Given the description of an element on the screen output the (x, y) to click on. 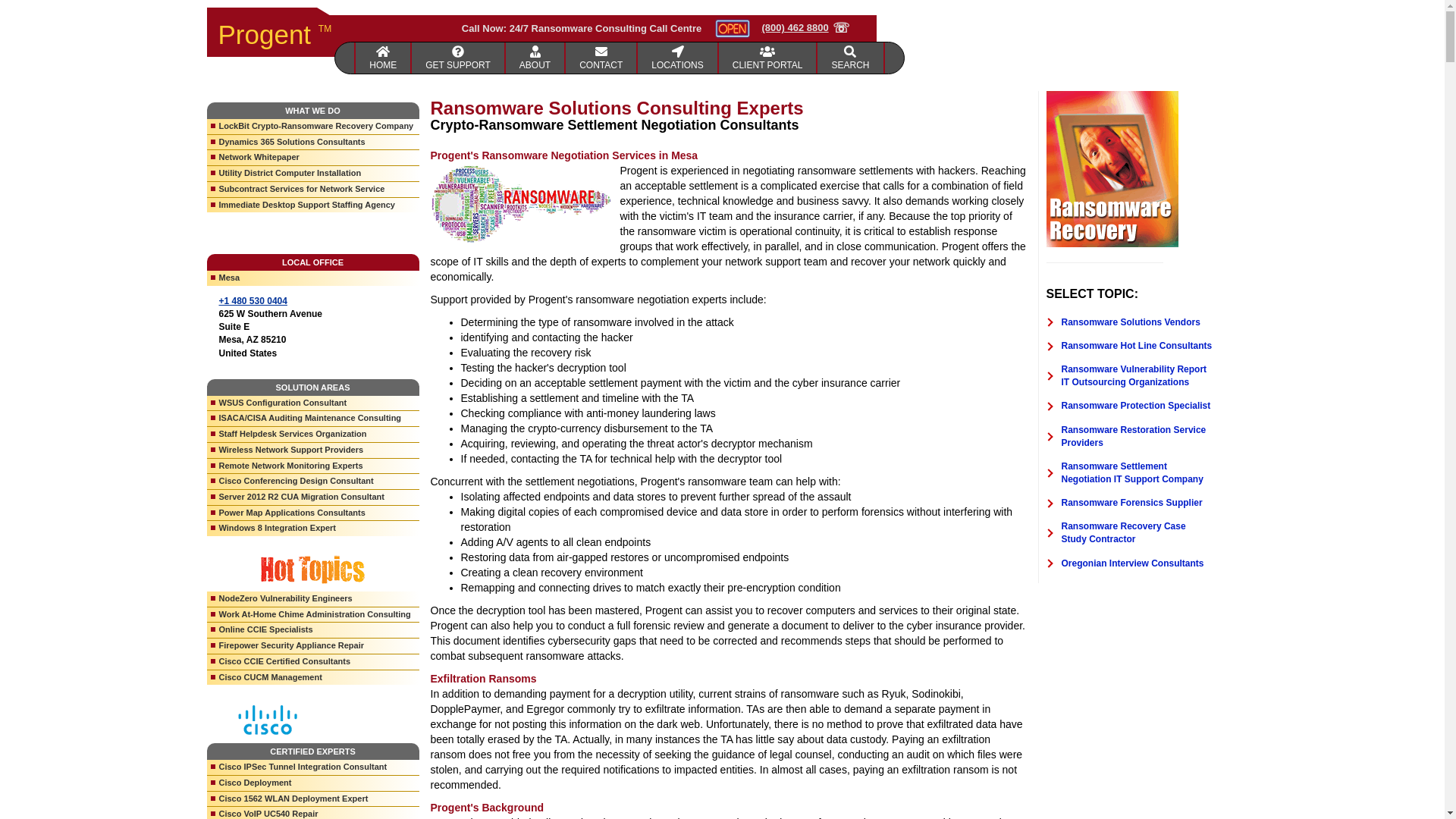
Contact Progent (677, 57)
SEARCH (849, 57)
Network Consulting Firm Progent Startup Business (458, 57)
Small and Midsize Office Upgrade (535, 57)
Contact Progent (601, 57)
GET SUPPORT (458, 57)
Crypto Ransom Repair Hotline (804, 28)
CLIENT PORTAL (768, 57)
HOME (382, 57)
ABOUT (535, 57)
CONTACT (601, 57)
LOCATIONS (677, 57)
